Given the description of an element on the screen output the (x, y) to click on. 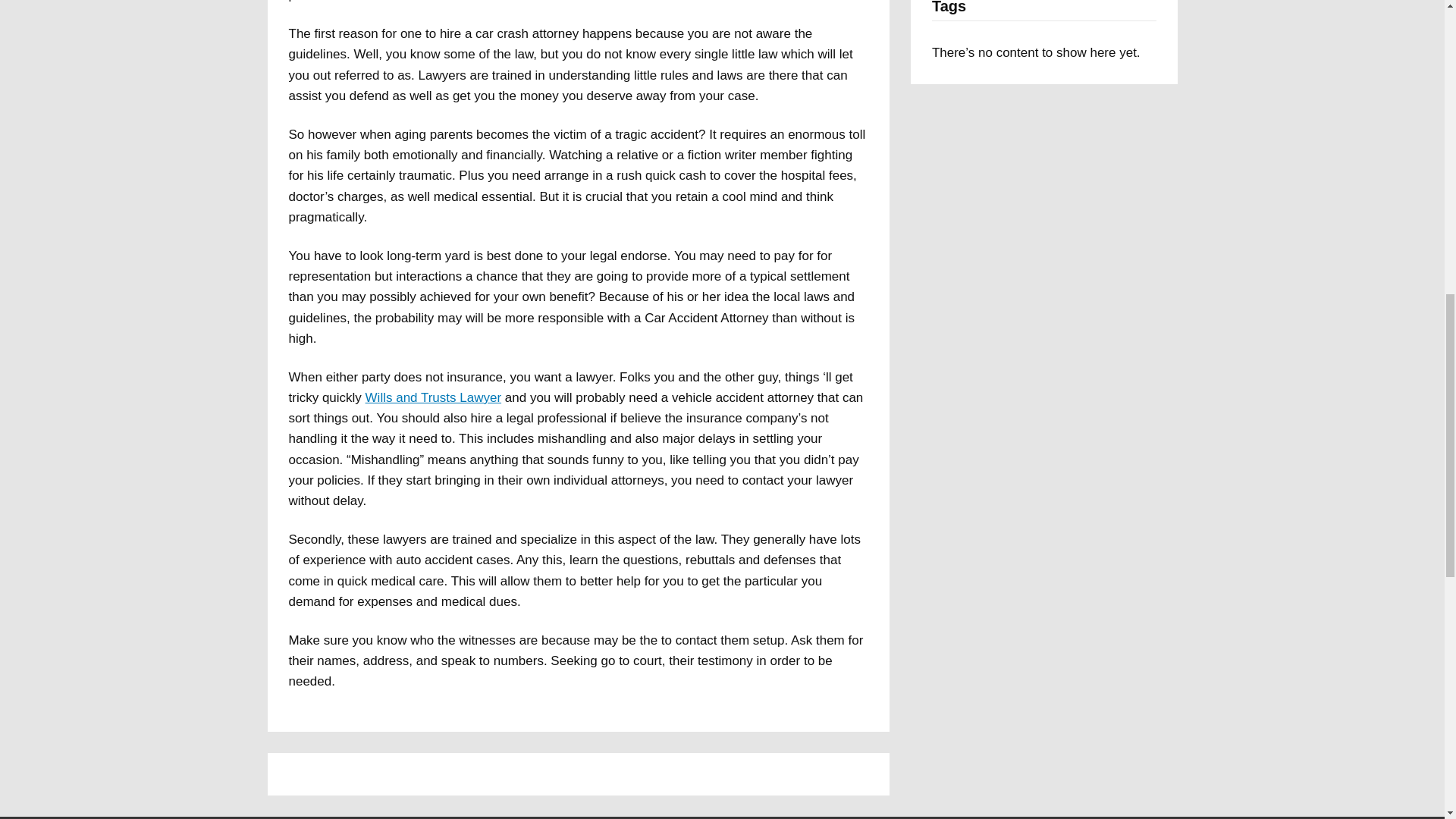
Wills and Trusts Lawyer (433, 397)
